Given the description of an element on the screen output the (x, y) to click on. 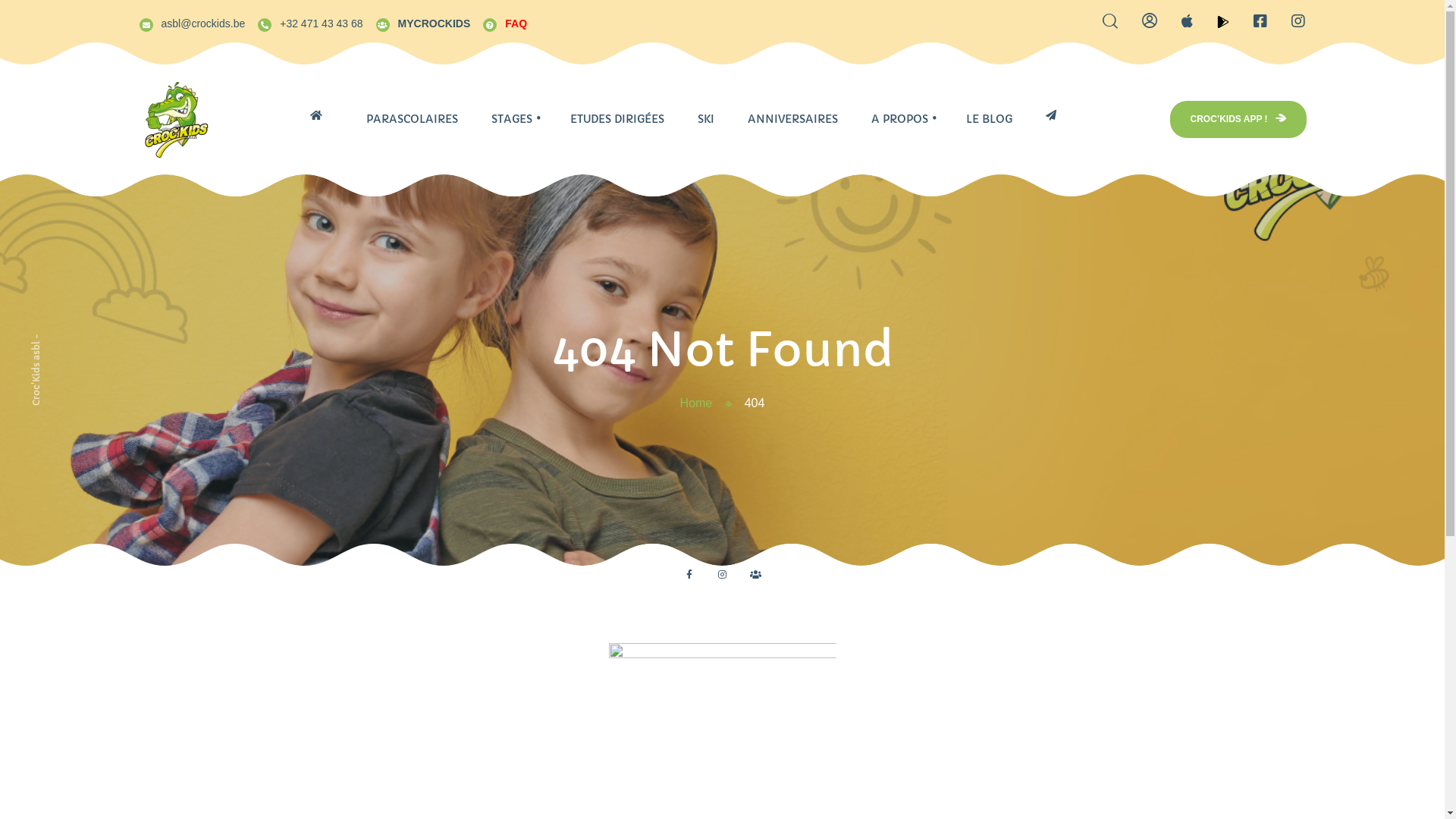
ANNIVERSAIRES Element type: text (792, 119)
Home Element type: text (696, 402)
  Element type: text (1055, 114)
LE BLOG Element type: text (989, 119)
PARASCOLAIRES Element type: text (410, 119)
asbl@crockids.be Element type: text (191, 21)
  Element type: text (321, 114)
A PROPOS Element type: text (898, 119)
STAGES Element type: text (511, 119)
+32 471 43 43 68 Element type: text (309, 21)
MYCROCKIDS Element type: text (422, 21)
FAQ Element type: text (504, 21)
SKI Element type: text (705, 119)
